Given the description of an element on the screen output the (x, y) to click on. 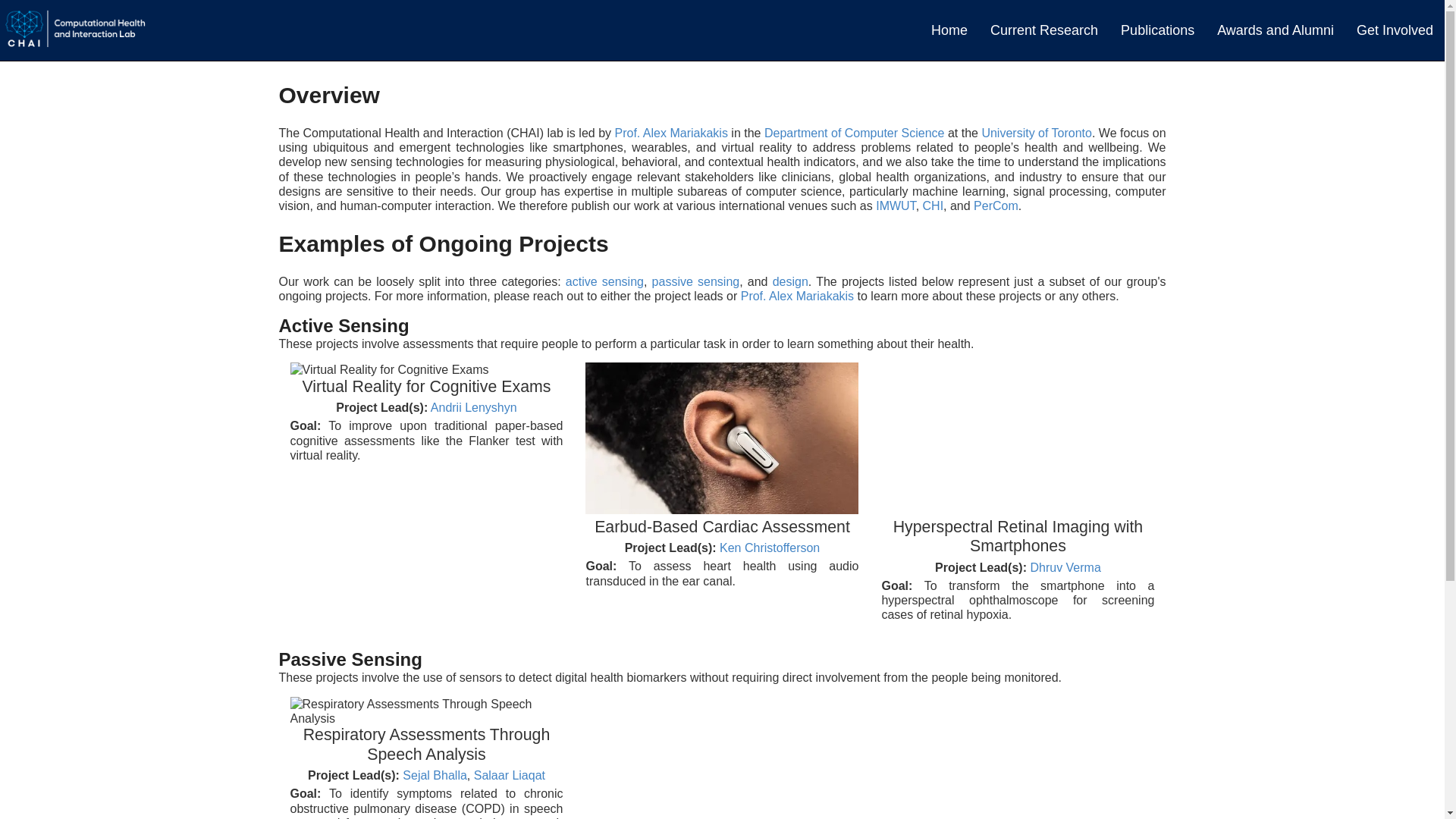
Salaar Liaqat (509, 775)
design (790, 281)
CHI (933, 205)
Publications (1157, 30)
University of Toronto (1036, 132)
Prof. Alex Mariakakis (797, 295)
Dhruv Verma (1064, 567)
IMWUT (895, 205)
active sensing (604, 281)
Current Research (1043, 30)
